Given the description of an element on the screen output the (x, y) to click on. 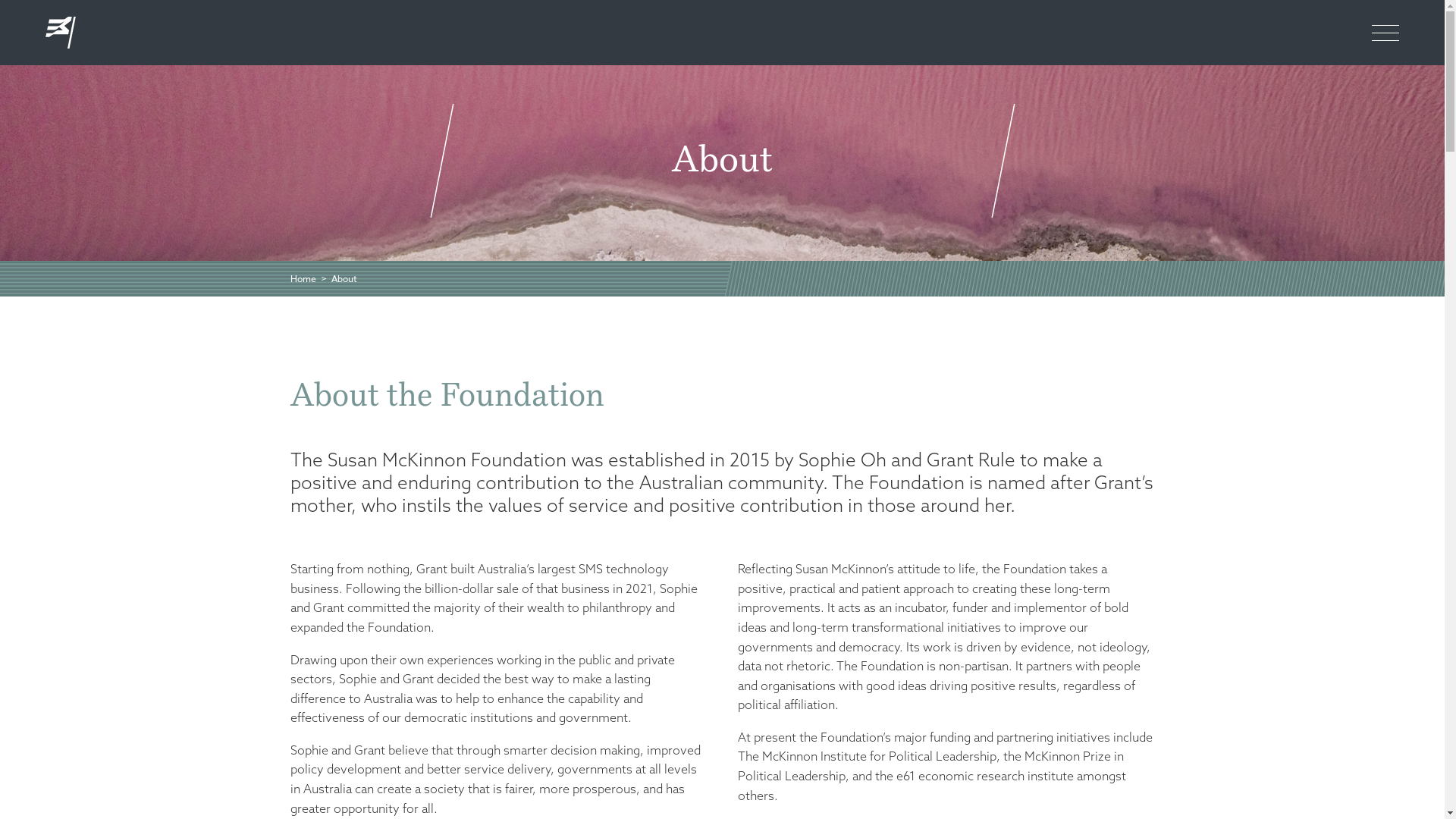
Susan McKinnon Foundation Element type: hover (48, 26)
Home Element type: text (303, 278)
